Given the description of an element on the screen output the (x, y) to click on. 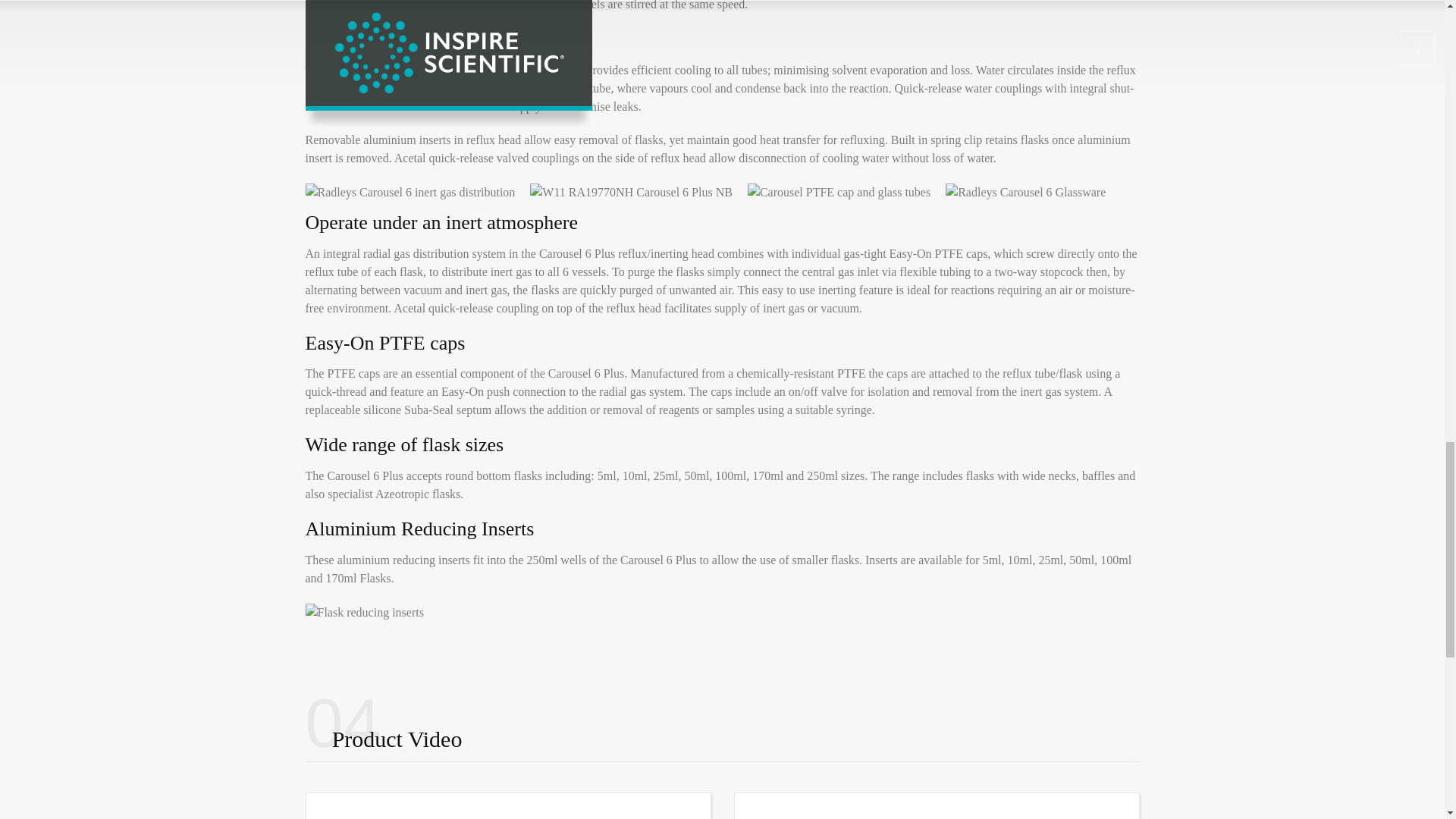
Click here to see the full range. (541, 493)
